Given the description of an element on the screen output the (x, y) to click on. 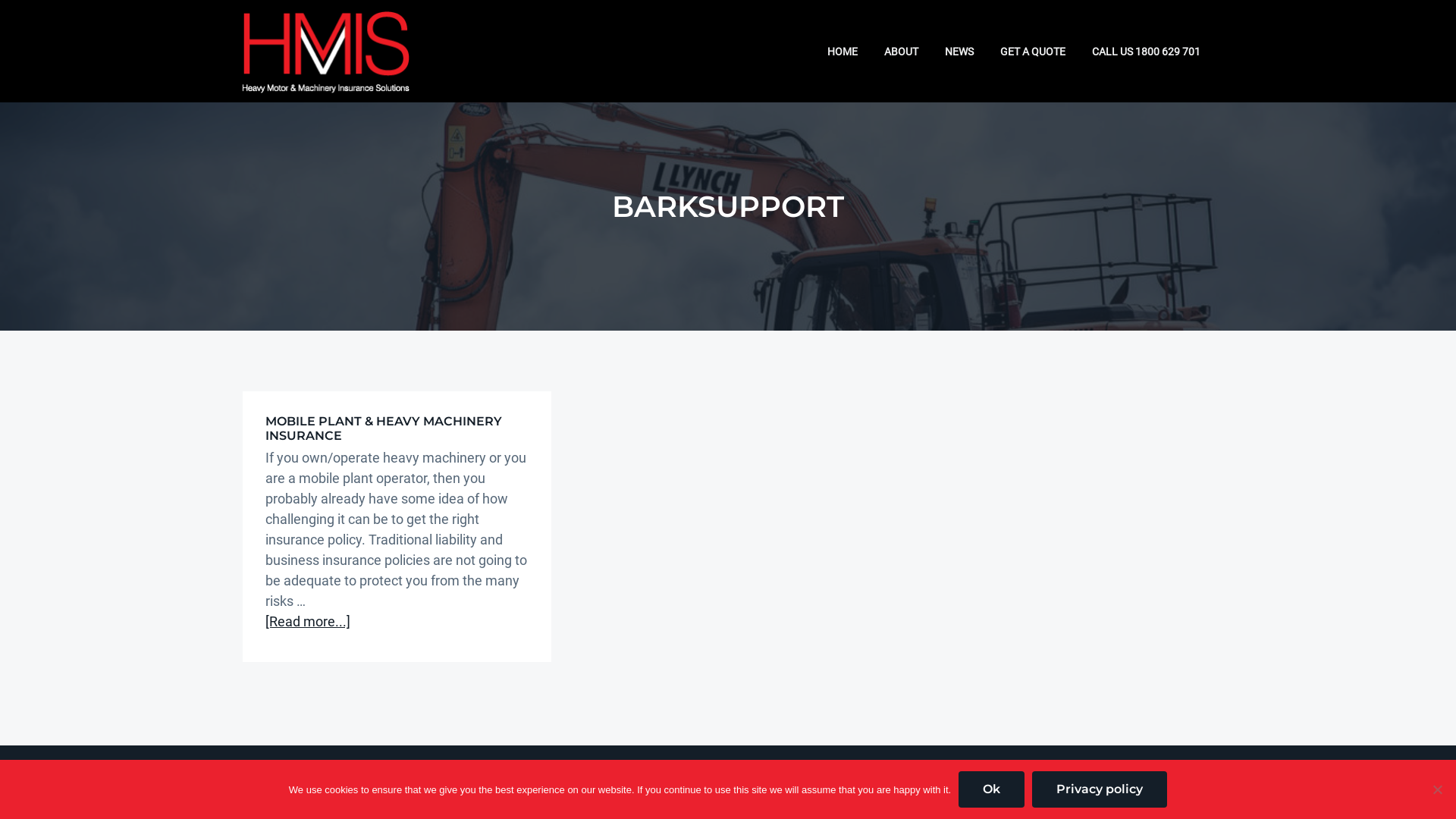
CALL US 1800 629 701 Element type: text (1145, 50)
Privacy policy Element type: text (1099, 789)
HOME Element type: text (841, 50)
GET A QUOTE Element type: text (1032, 50)
NEWS Element type: text (958, 50)
No Element type: hover (1436, 789)
ABOUT Element type: text (900, 50)
Ok Element type: text (991, 789)
MOBILE PLANT & HEAVY MACHINERY INSURANCE Element type: text (383, 428)
Skip to primary navigation Element type: text (0, 0)
